Given the description of an element on the screen output the (x, y) to click on. 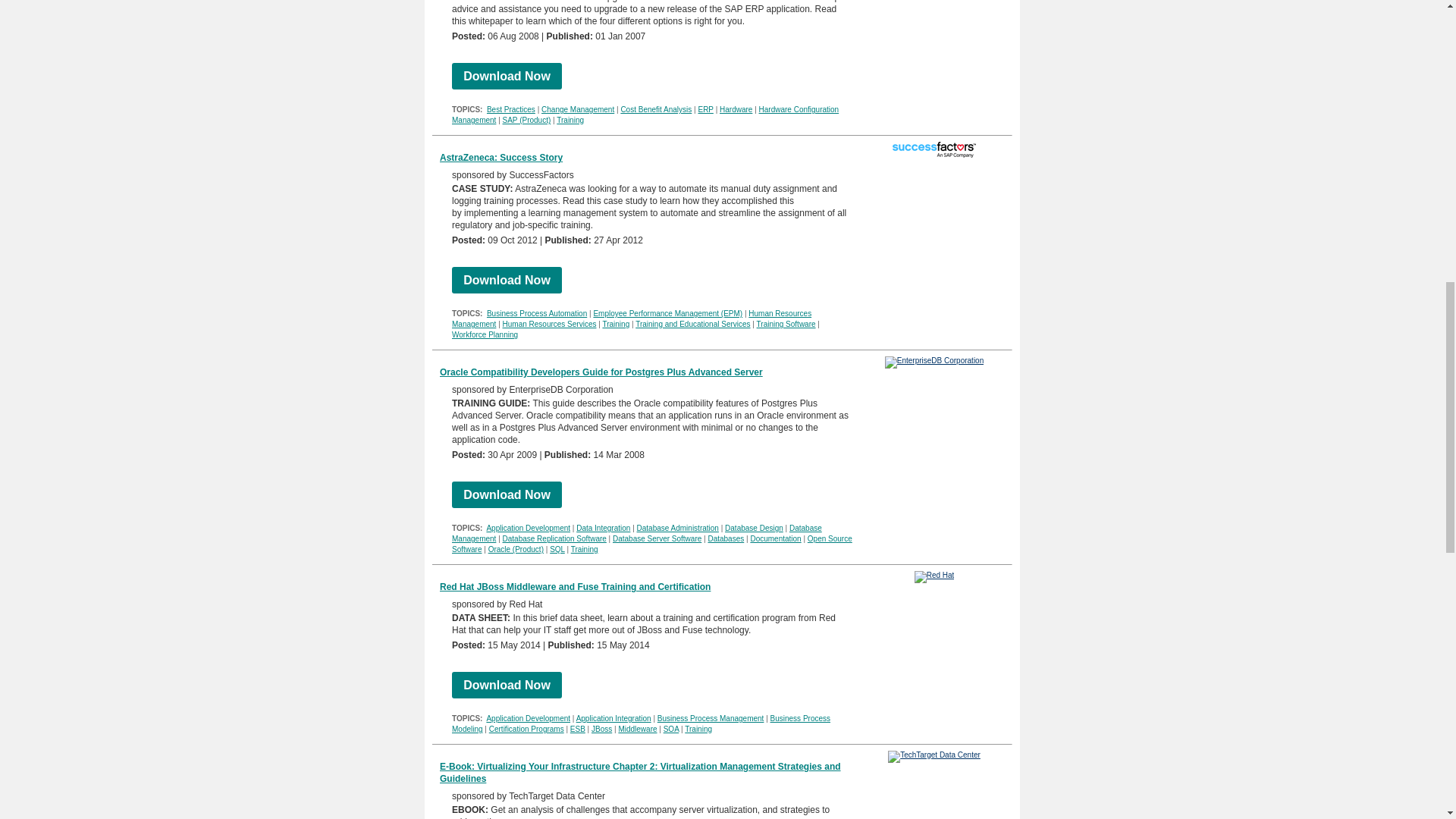
Hardware Configuration Management (644, 114)
Change Management (577, 109)
ERP (705, 109)
Best Practices (510, 109)
Hardware (735, 109)
Cost Benefit Analysis (655, 109)
